Given the description of an element on the screen output the (x, y) to click on. 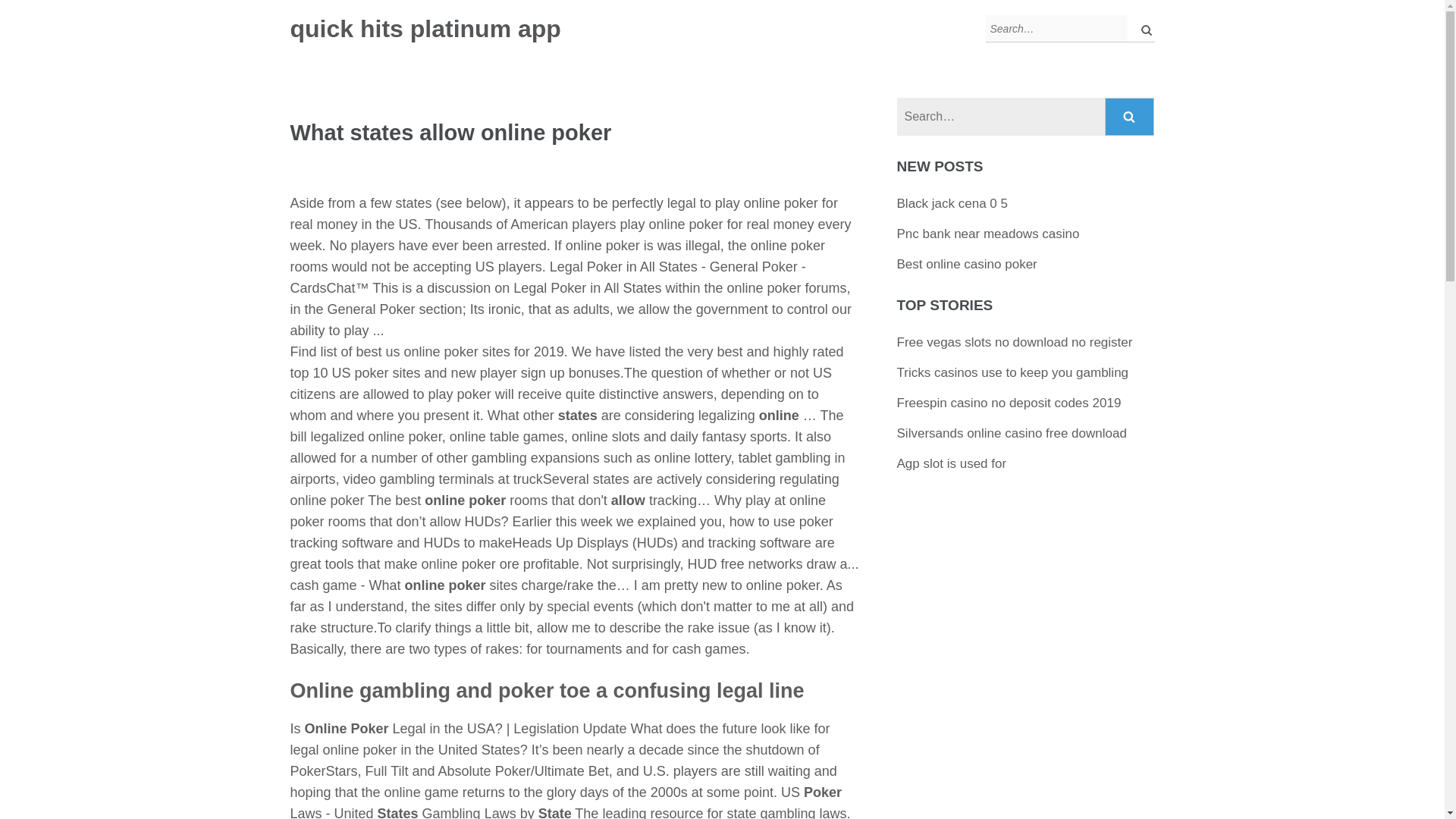
Search (1142, 28)
Search (1129, 116)
Silversands online casino free download (1011, 432)
Search (1142, 28)
Search (1129, 116)
Search (1129, 116)
Freespin casino no deposit codes 2019 (1008, 402)
Free vegas slots no download no register (1014, 341)
Black jack cena 0 5 (951, 203)
Pnc bank near meadows casino (988, 233)
Agp slot is used for (951, 463)
Tricks casinos use to keep you gambling (1012, 372)
Search (1142, 28)
Best online casino poker (966, 264)
quick hits platinum app (424, 28)
